Given the description of an element on the screen output the (x, y) to click on. 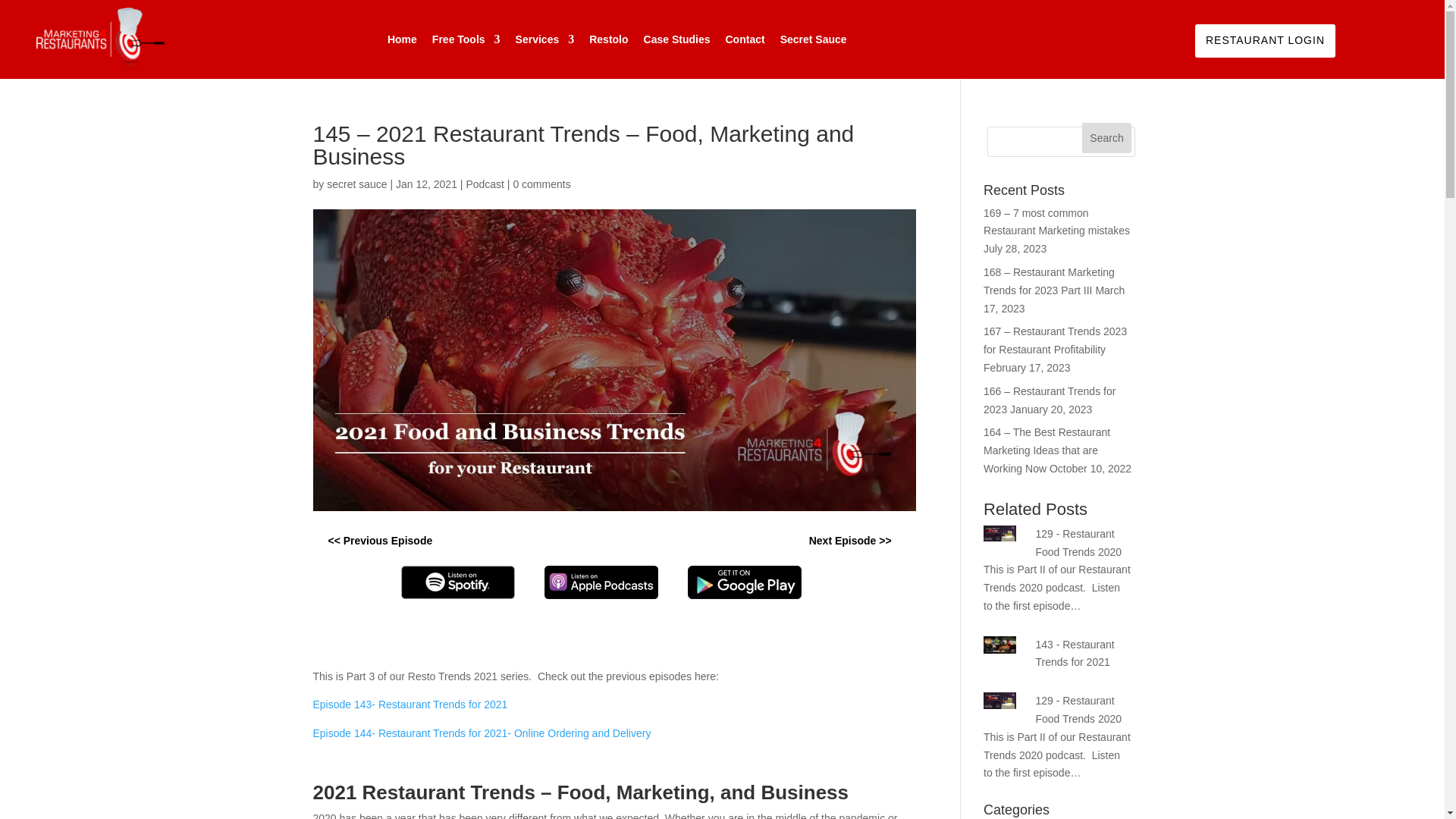
Services (545, 39)
Search (1106, 137)
secret sauce (356, 184)
Podcast (484, 184)
Case Studies (676, 39)
0 comments (541, 184)
Free Tools (466, 39)
Posts by secret sauce (356, 184)
Search (1106, 137)
